Given the description of an element on the screen output the (x, y) to click on. 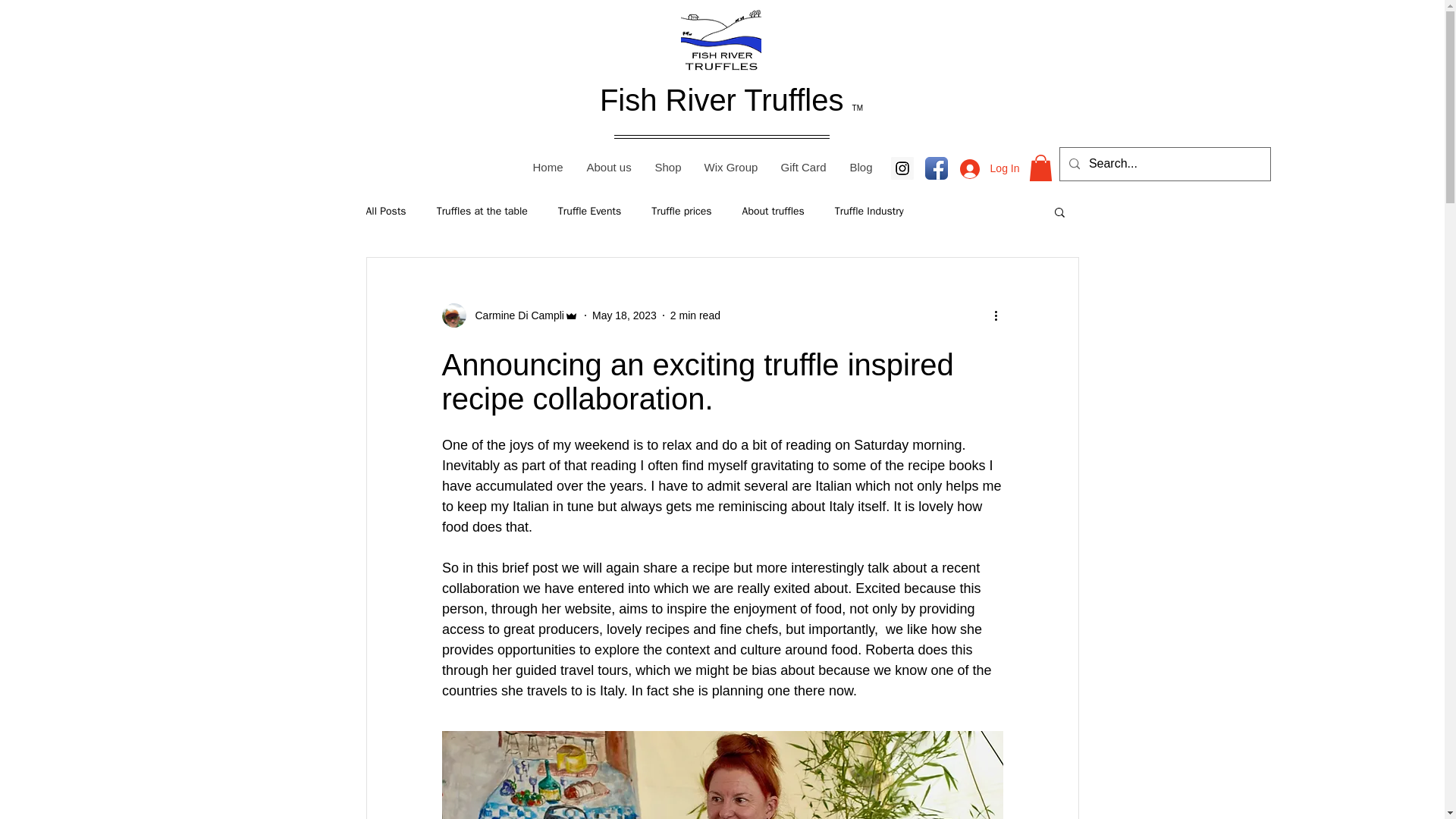
About us (609, 167)
May 18, 2023 (624, 315)
Carmine Di Campli (509, 315)
Carmine Di Campli (514, 315)
Blog (860, 167)
Truffles at the table (481, 211)
All Posts (385, 211)
Shop (668, 167)
Truffle Events (589, 211)
Truffle prices (680, 211)
